Given the description of an element on the screen output the (x, y) to click on. 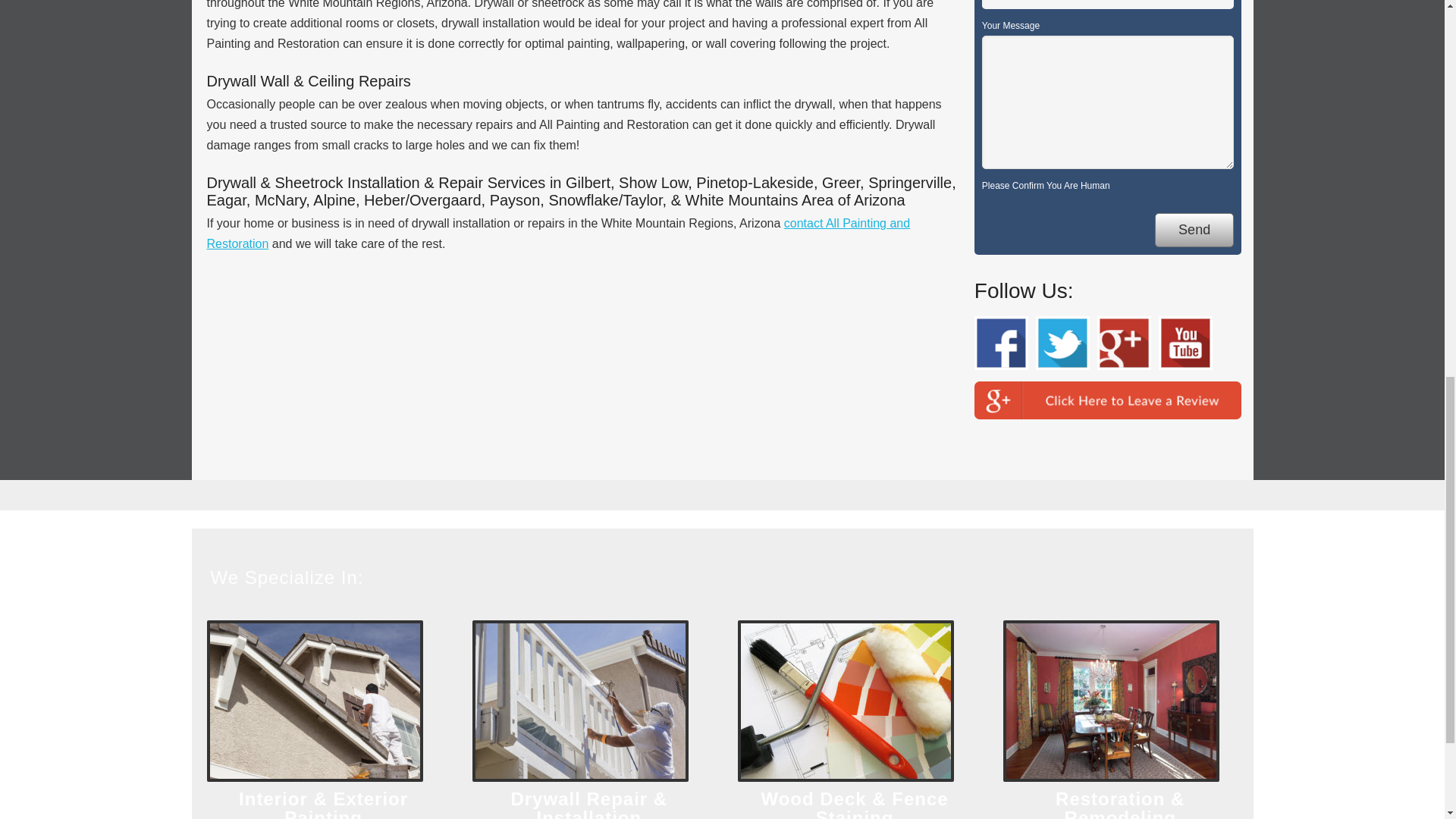
Send (1193, 229)
contact All Painting and Restoration (558, 233)
Send (1193, 229)
